Given the description of an element on the screen output the (x, y) to click on. 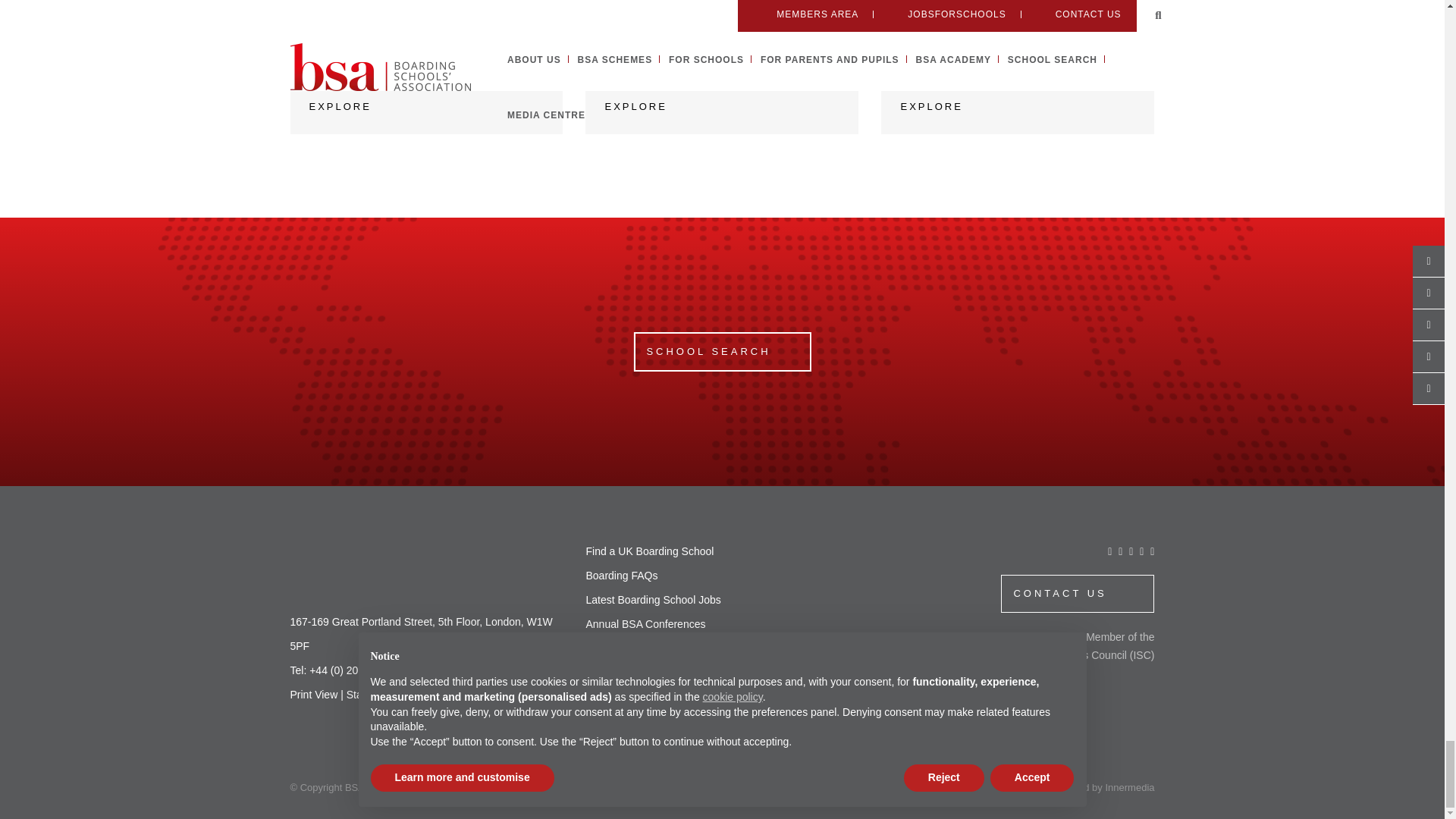
Switch to Print (313, 694)
Switch to High Visibility (454, 694)
Switch to Standard Visibility (380, 694)
